Given the description of an element on the screen output the (x, y) to click on. 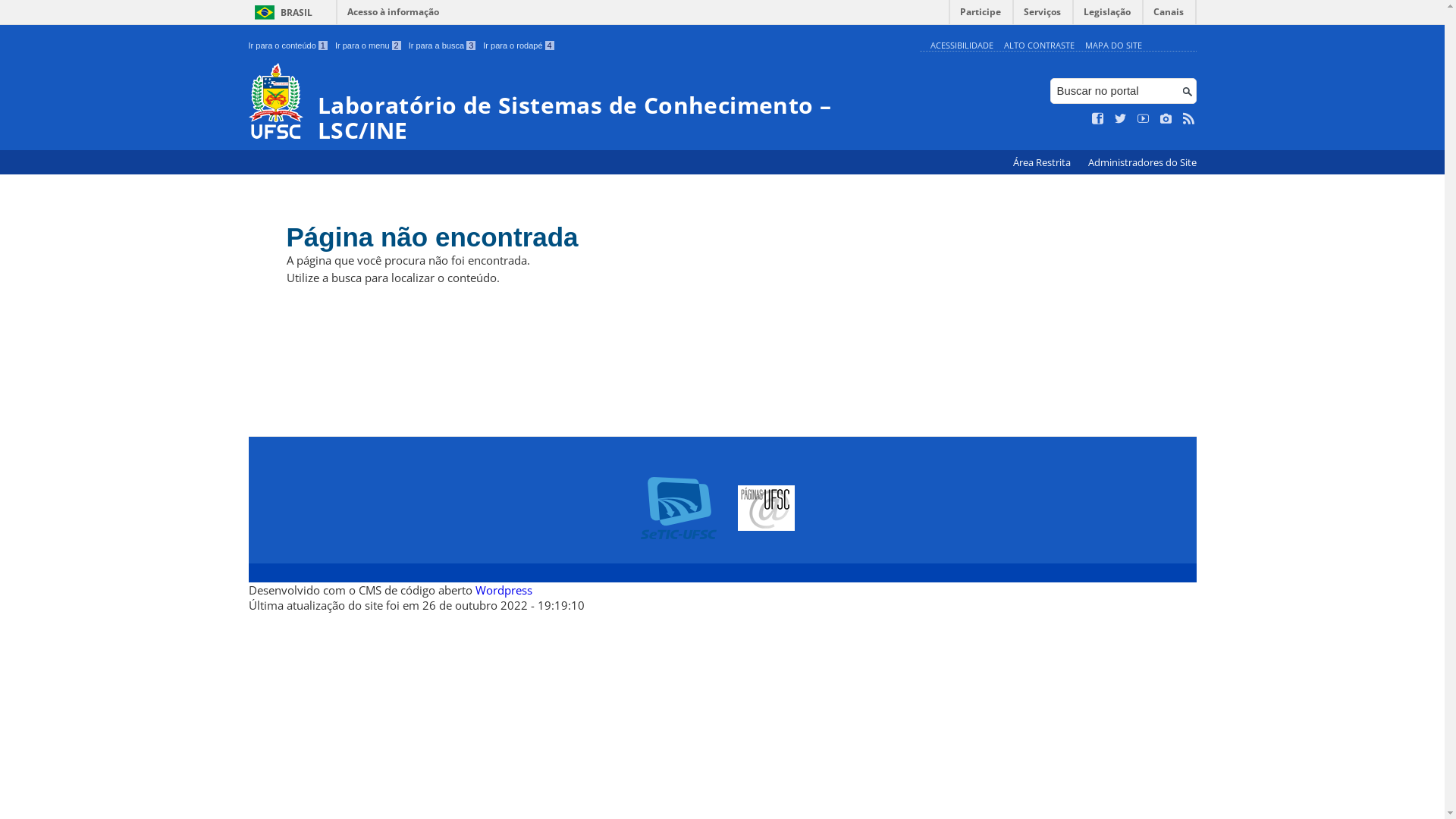
Ir para o menu 2 Element type: text (368, 45)
ALTO CONTRASTE Element type: text (1039, 44)
ACESSIBILIDADE Element type: text (960, 44)
Veja no Instagram Element type: hover (1166, 118)
Siga no Twitter Element type: hover (1120, 118)
Wordpress Element type: text (502, 589)
Participe Element type: text (980, 15)
Curta no Facebook Element type: hover (1098, 118)
Ir para a busca 3 Element type: text (442, 45)
Canais Element type: text (1169, 15)
MAPA DO SITE Element type: text (1112, 44)
Administradores do Site Element type: text (1141, 162)
BRASIL Element type: text (280, 12)
